Given the description of an element on the screen output the (x, y) to click on. 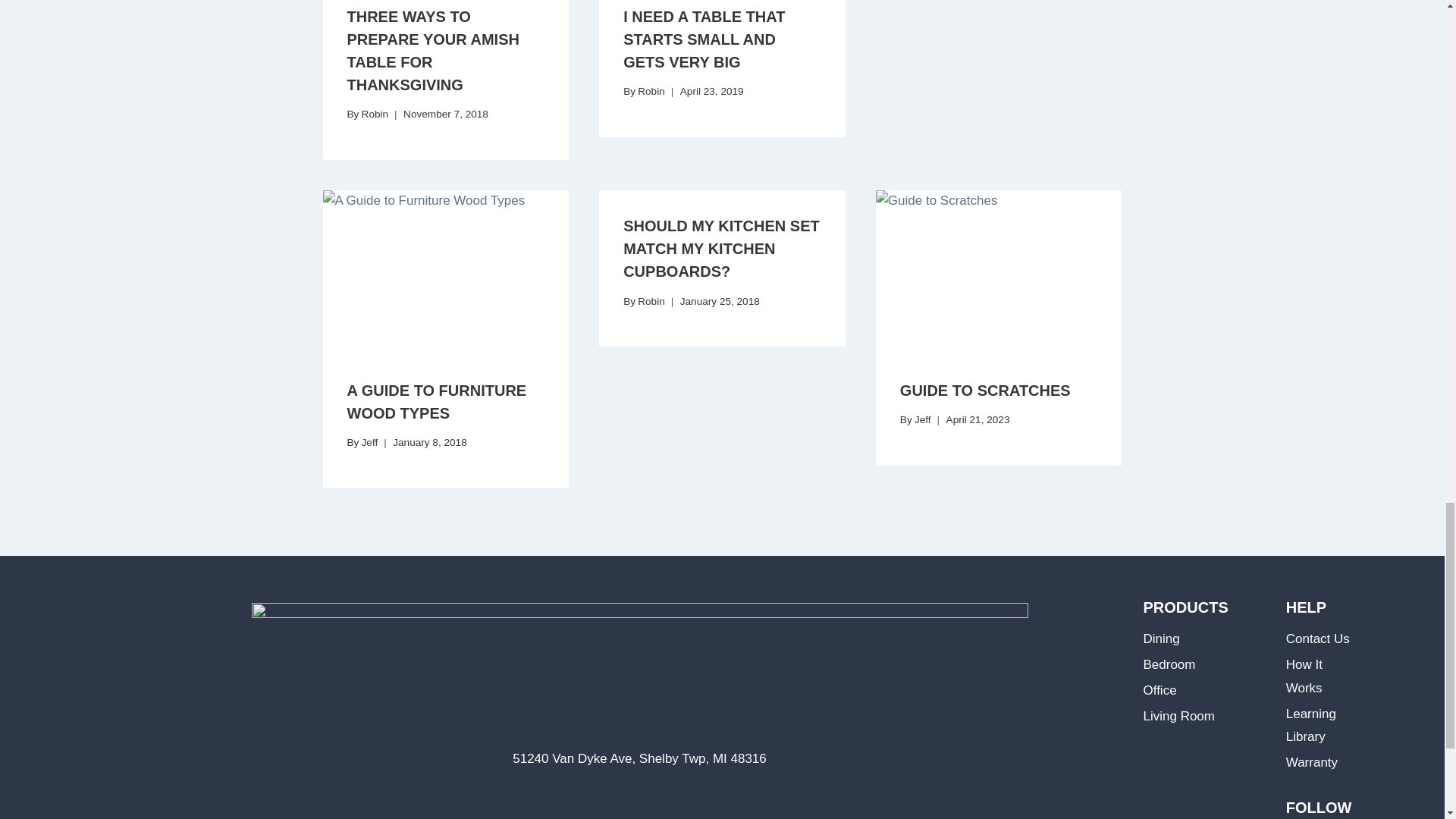
I NEED A TABLE THAT STARTS SMALL AND GETS VERY BIG (703, 39)
THREE WAYS TO PREPARE YOUR AMISH TABLE FOR THANKSGIVING (433, 50)
Robin (374, 113)
A GUIDE TO FURNITURE WOOD TYPES (437, 401)
Robin (651, 91)
